Given the description of an element on the screen output the (x, y) to click on. 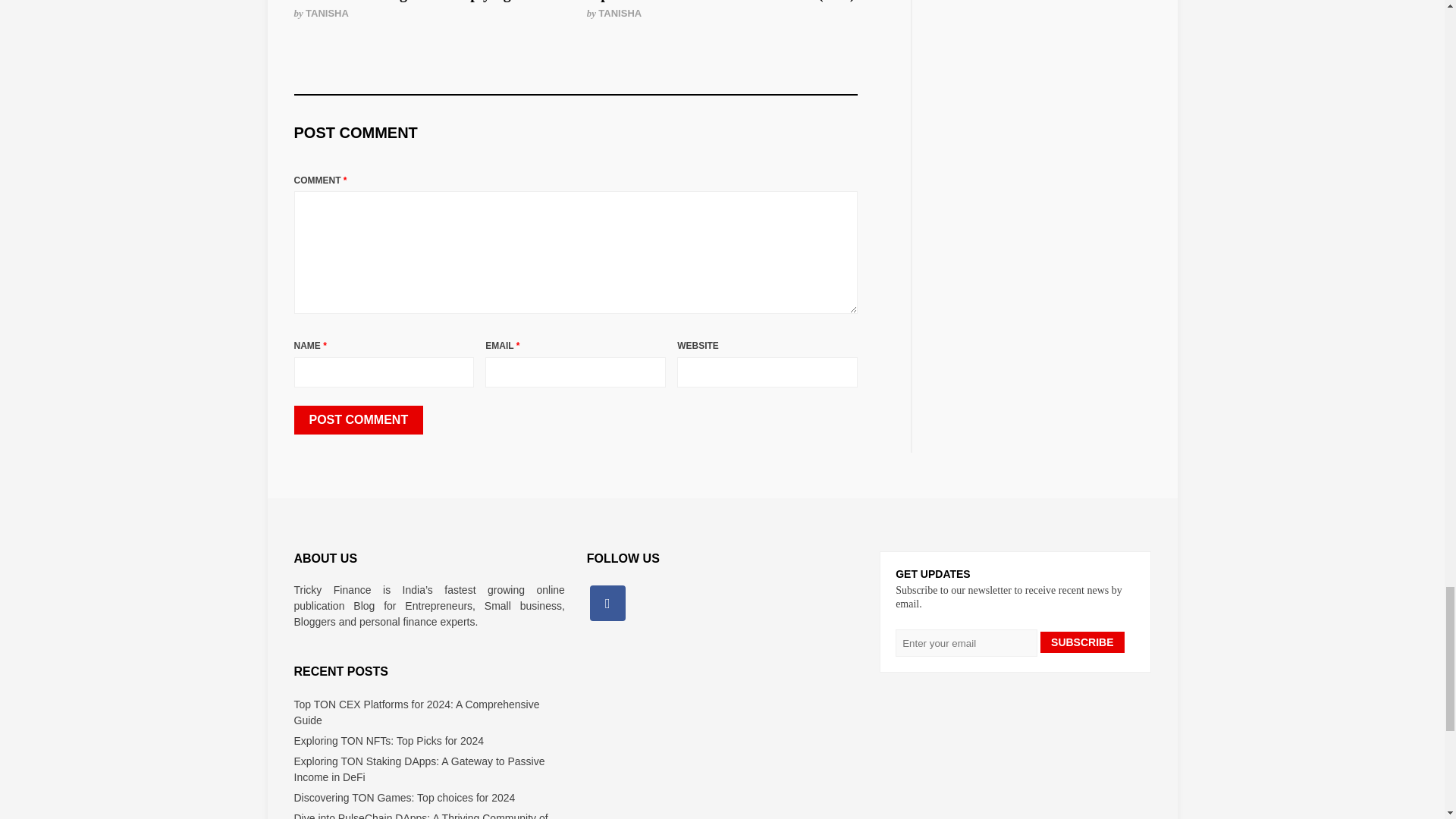
Post Comment (358, 419)
